Given the description of an element on the screen output the (x, y) to click on. 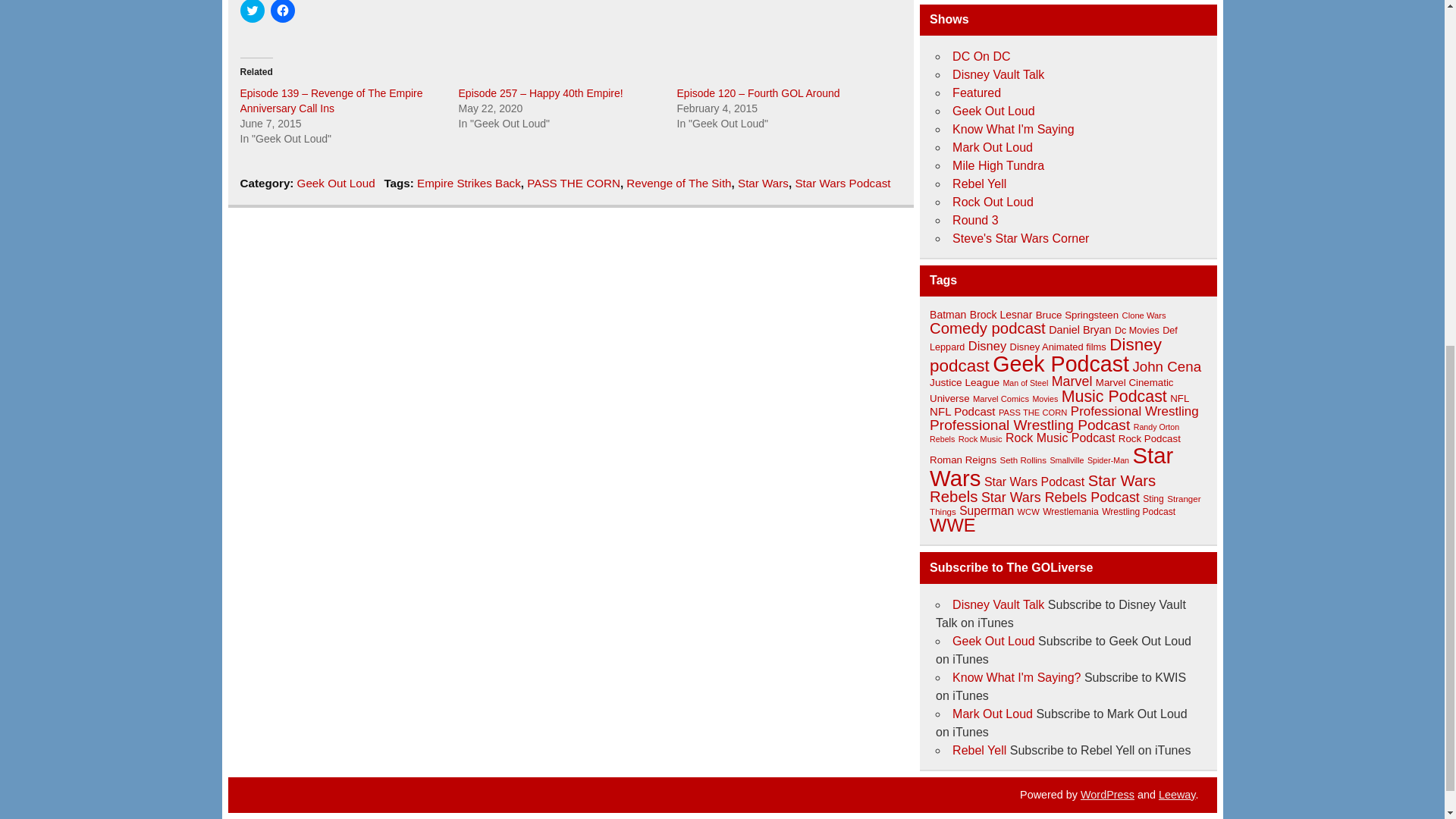
PASS THE CORN (573, 182)
Subscribe to Rebel Yell on iTunes (979, 749)
Geek Out Loud (336, 182)
WordPress (1107, 794)
DC On DC (981, 56)
Leeway WordPress Theme (1176, 794)
Subscribe to KWIS on iTunes (1016, 676)
Mark Out Loud (992, 146)
Click to share on Facebook (281, 11)
Revenge of The Sith (678, 182)
Disney Vault Talk (997, 74)
Subscribe to Mark Out Loud on iTunes (992, 713)
Star Wars (763, 182)
Star Wars Podcast (841, 182)
Featured (976, 92)
